Given the description of an element on the screen output the (x, y) to click on. 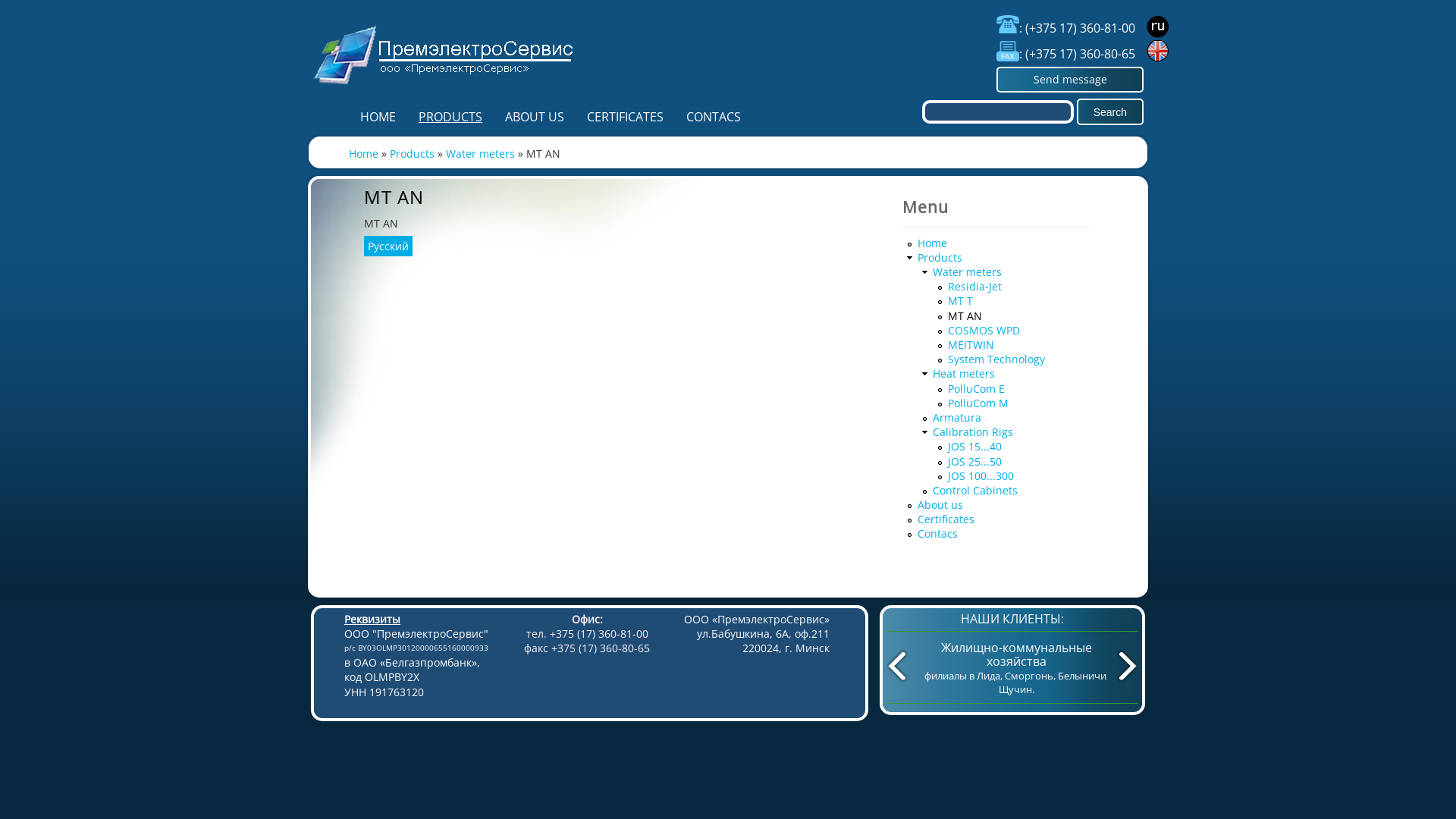
Calibration Rigs Element type: text (972, 431)
COSMOS WPD Element type: text (983, 330)
Home Element type: text (932, 242)
Search Element type: text (1109, 111)
JOS 100...300 Element type: text (980, 475)
CERTIFICATES Element type: text (624, 116)
MT AN Element type: text (964, 315)
Armatura Element type: text (956, 417)
System Technology Element type: text (995, 358)
RU Element type: text (1159, 26)
About us Element type: text (940, 504)
Home Element type: text (363, 153)
Water meters Element type: text (479, 153)
Home Element type: hover (443, 89)
Residia-Jet Element type: text (974, 286)
Send message Element type: text (1069, 79)
Products Element type: text (939, 257)
Heat meters Element type: text (963, 373)
Contacs Element type: text (937, 533)
PRODUCTS Element type: text (450, 116)
PolluCom E Element type: text (975, 388)
Control Cabinets Element type: text (974, 490)
Enter the terms you wish to search for. Element type: hover (997, 111)
HOME Element type: text (377, 116)
Certificates Element type: text (945, 518)
Products Element type: text (411, 153)
CONTACS Element type: text (713, 116)
JOS 15...40 Element type: text (974, 446)
Water meters Element type: text (966, 271)
MEITWIN Element type: text (970, 344)
JOS 25...50 Element type: text (974, 460)
ABOUT US Element type: text (534, 116)
PolluCom M Element type: text (977, 402)
MT T Element type: text (959, 300)
